Given the description of an element on the screen output the (x, y) to click on. 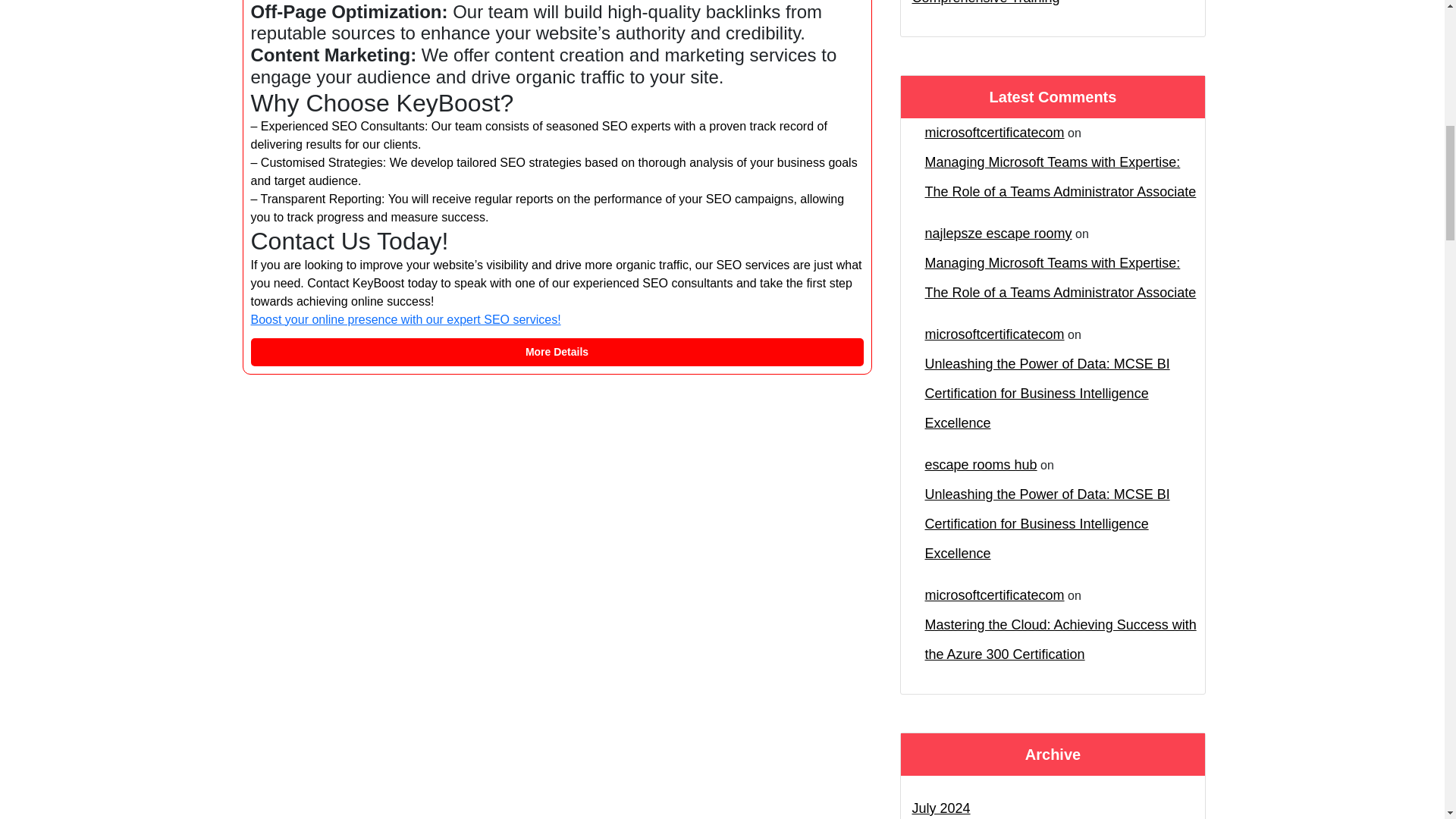
najlepsze escape roomy (997, 233)
microsoftcertificatecom (994, 595)
More Details (556, 352)
escape rooms hub (980, 464)
Boost your online presence with our expert SEO services! (405, 318)
Master Microsoft Azure Skills with Comprehensive Training (1052, 6)
microsoftcertificatecom (994, 132)
microsoftcertificatecom (994, 334)
July 2024 (940, 806)
